Given the description of an element on the screen output the (x, y) to click on. 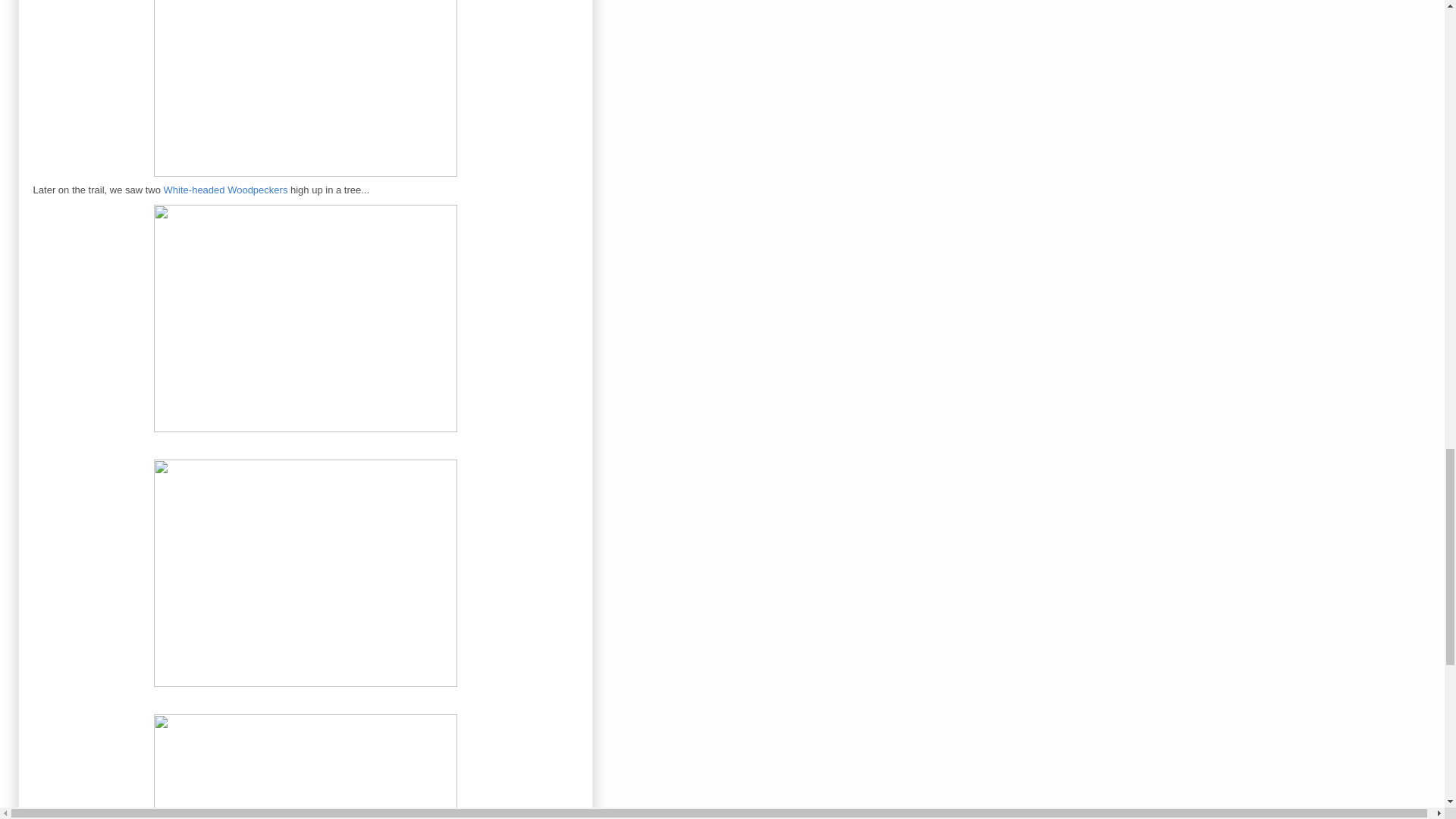
birds at Lassen Volcanic National Park California (305, 318)
White-headed Woodpeckers (225, 189)
birds at Lassen Volcanic National Park California (305, 763)
woodpeckers at Lassen Volcanic National Park California (305, 572)
birds at Lassen Volcanic National Park California (305, 91)
